Given the description of an element on the screen output the (x, y) to click on. 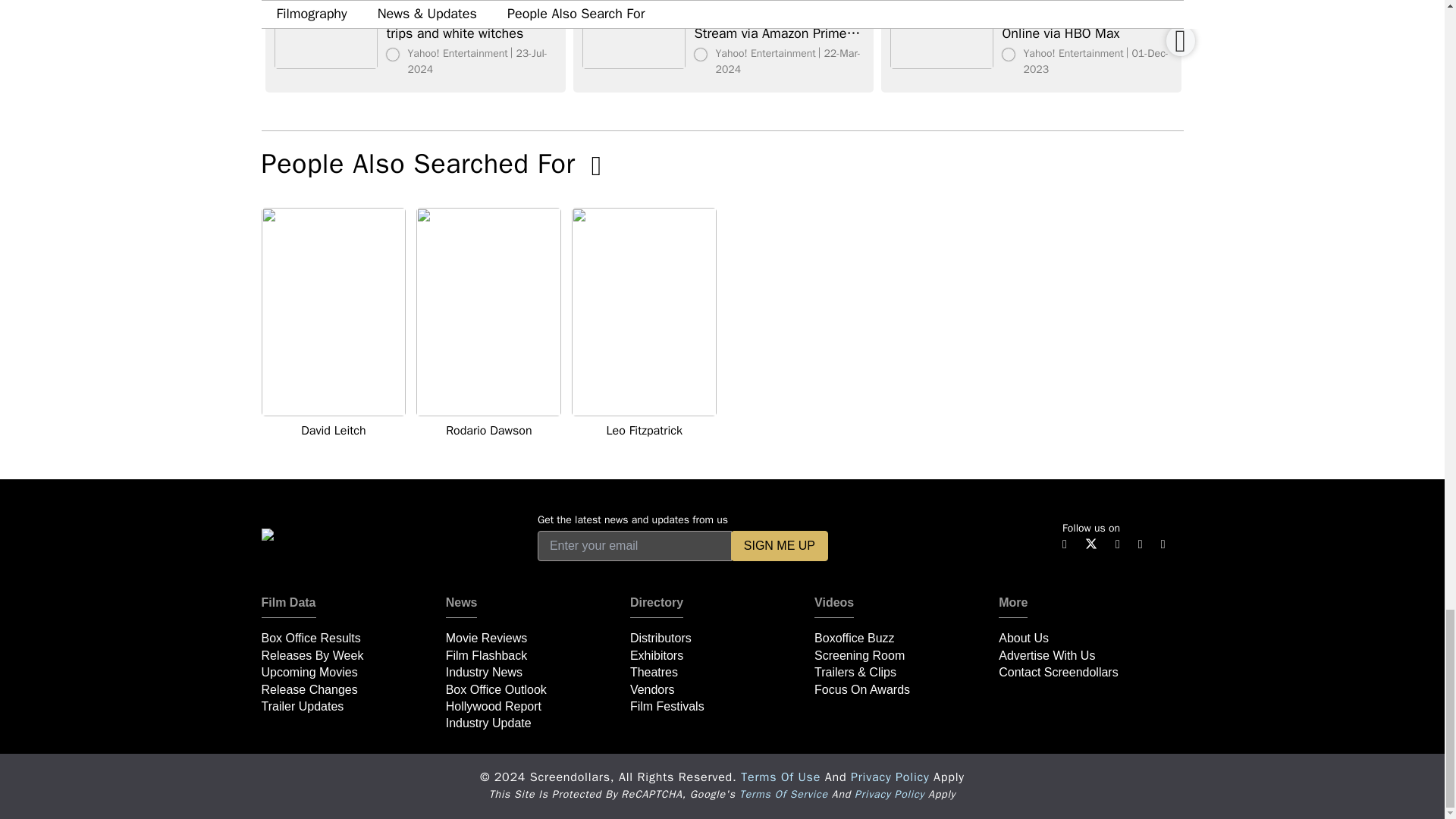
Next (1180, 40)
Sign up to receive the Screendollars Newsletter (779, 545)
Twitter (1090, 542)
